Given the description of an element on the screen output the (x, y) to click on. 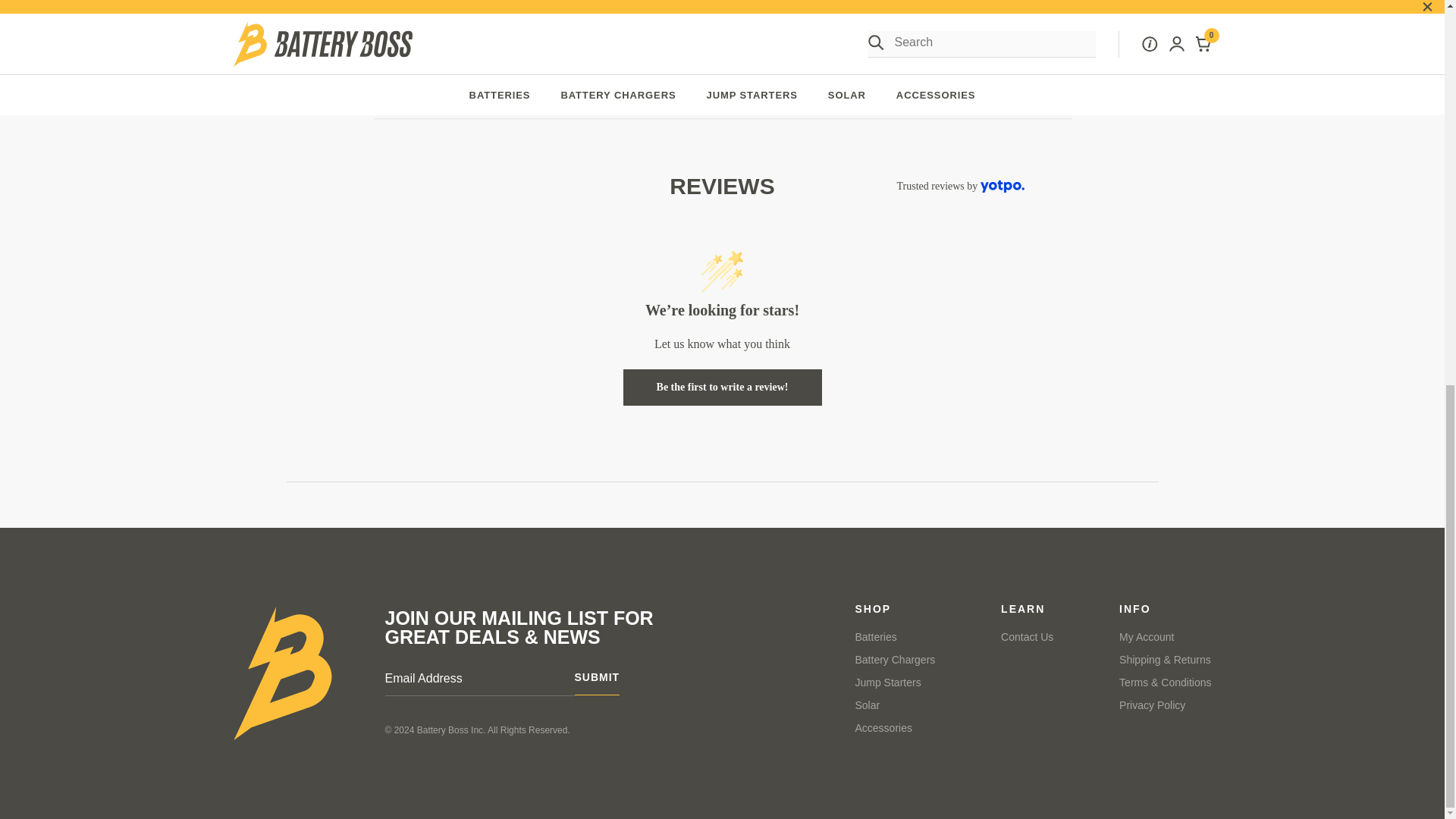
Batteries (876, 636)
Be the first to write a review! (722, 387)
Accessories (884, 727)
SUBMIT (597, 683)
Jump Starters (888, 682)
Trusted reviews by (960, 186)
Battery Chargers (896, 659)
Solar (868, 705)
